Given the description of an element on the screen output the (x, y) to click on. 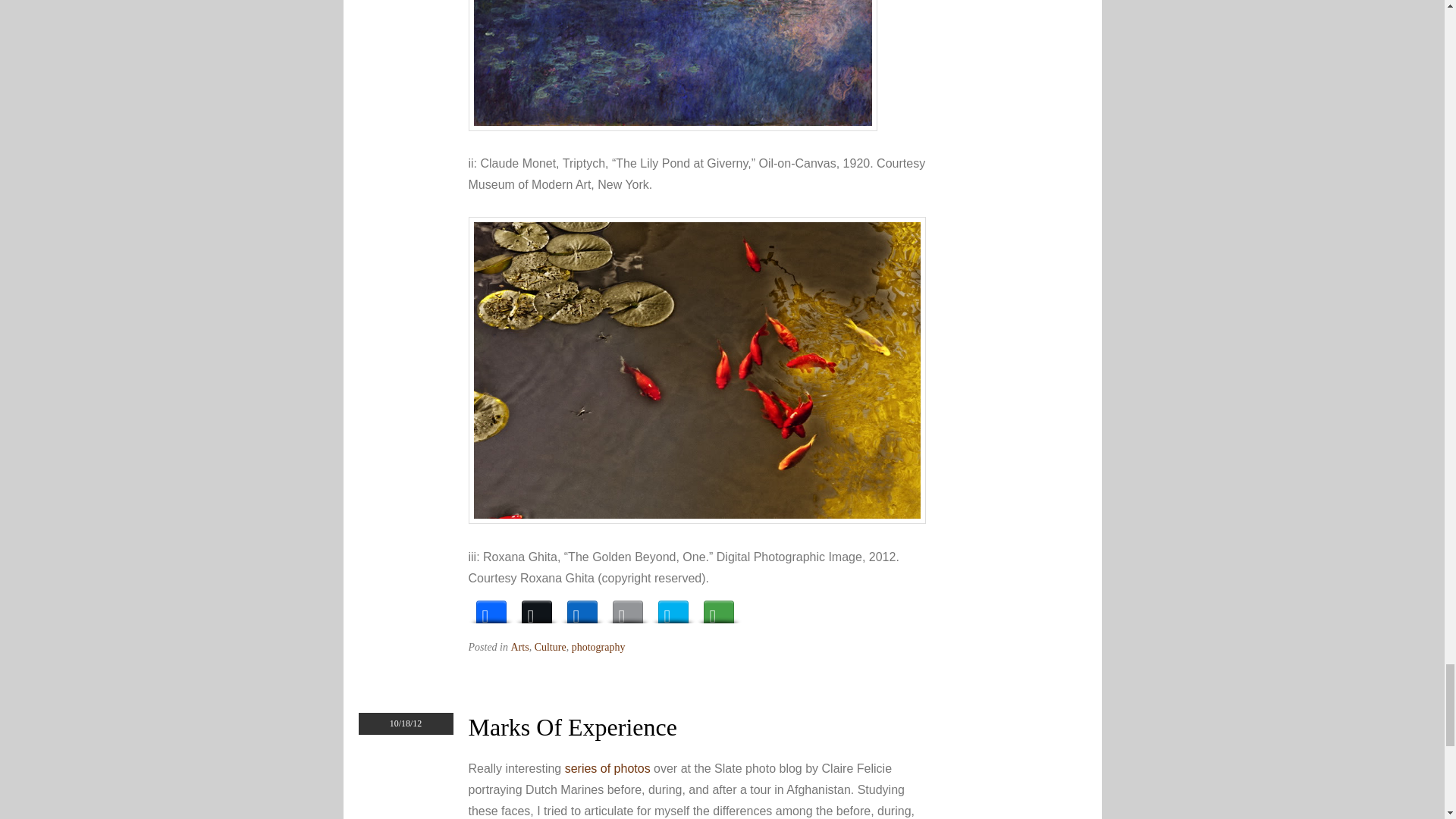
Facebook (490, 607)
Arts (520, 646)
Marks Of Experience (572, 727)
More Options (718, 607)
Claire Felicie - Marines before, during, after Afghanistan (607, 768)
PrintFriendly (672, 607)
LinkedIn (582, 607)
series of photos (607, 768)
Permalink to Marks of Experience (572, 727)
Culture (550, 646)
photography (599, 646)
Email This (627, 607)
